Given the description of an element on the screen output the (x, y) to click on. 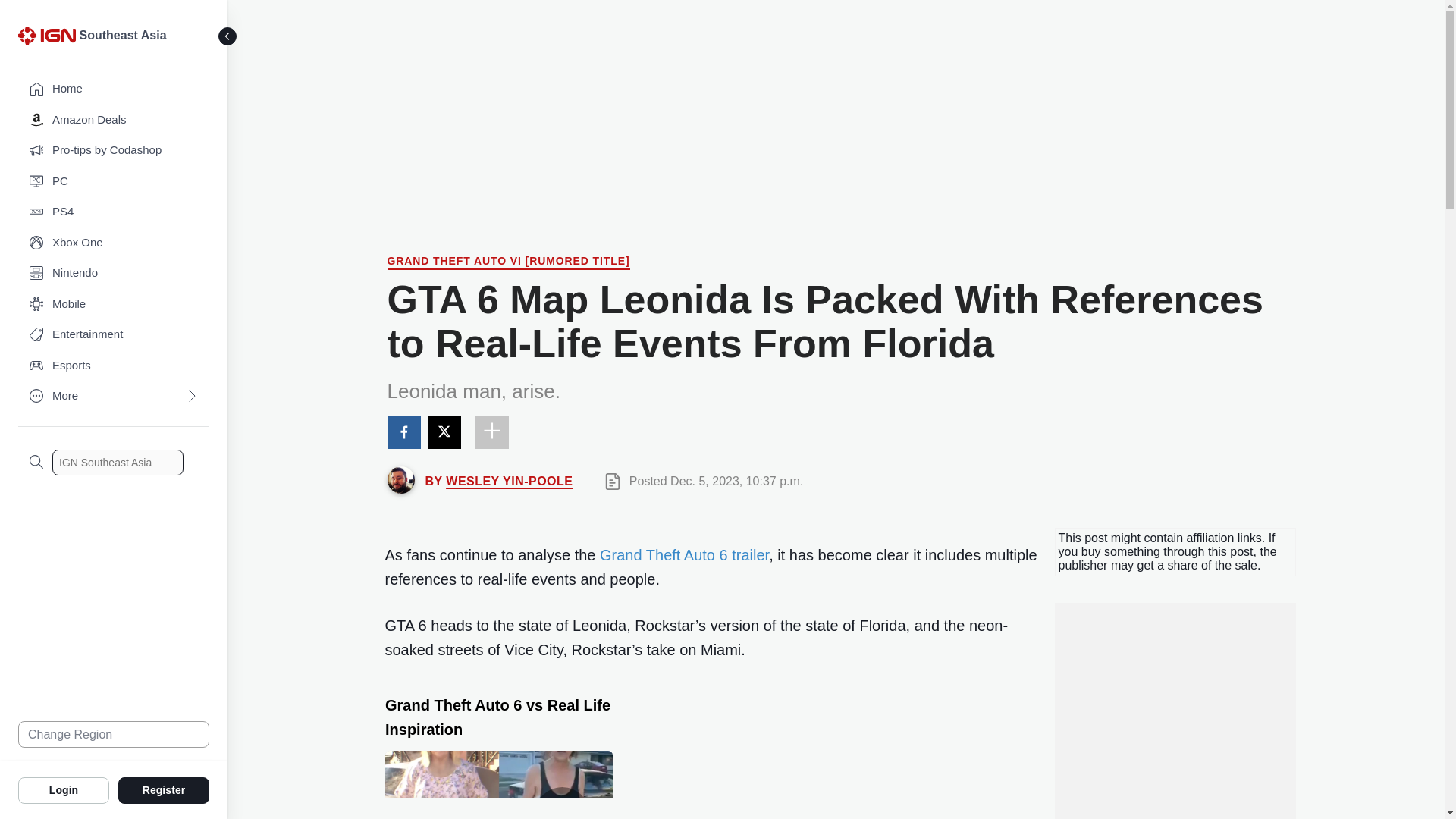
Login (63, 789)
Register (163, 789)
Pro-tips by Codashop (113, 150)
Home (113, 89)
IGN Logo (48, 39)
IGN Logo (46, 34)
Toggle Sidebar (226, 36)
PC (113, 181)
Nintendo (113, 273)
PS4 (113, 211)
WESLEY YIN-POOLE (508, 481)
Esports (113, 365)
Mobile (113, 304)
Entertainment (113, 334)
Amazon Deals (113, 119)
